Given the description of an element on the screen output the (x, y) to click on. 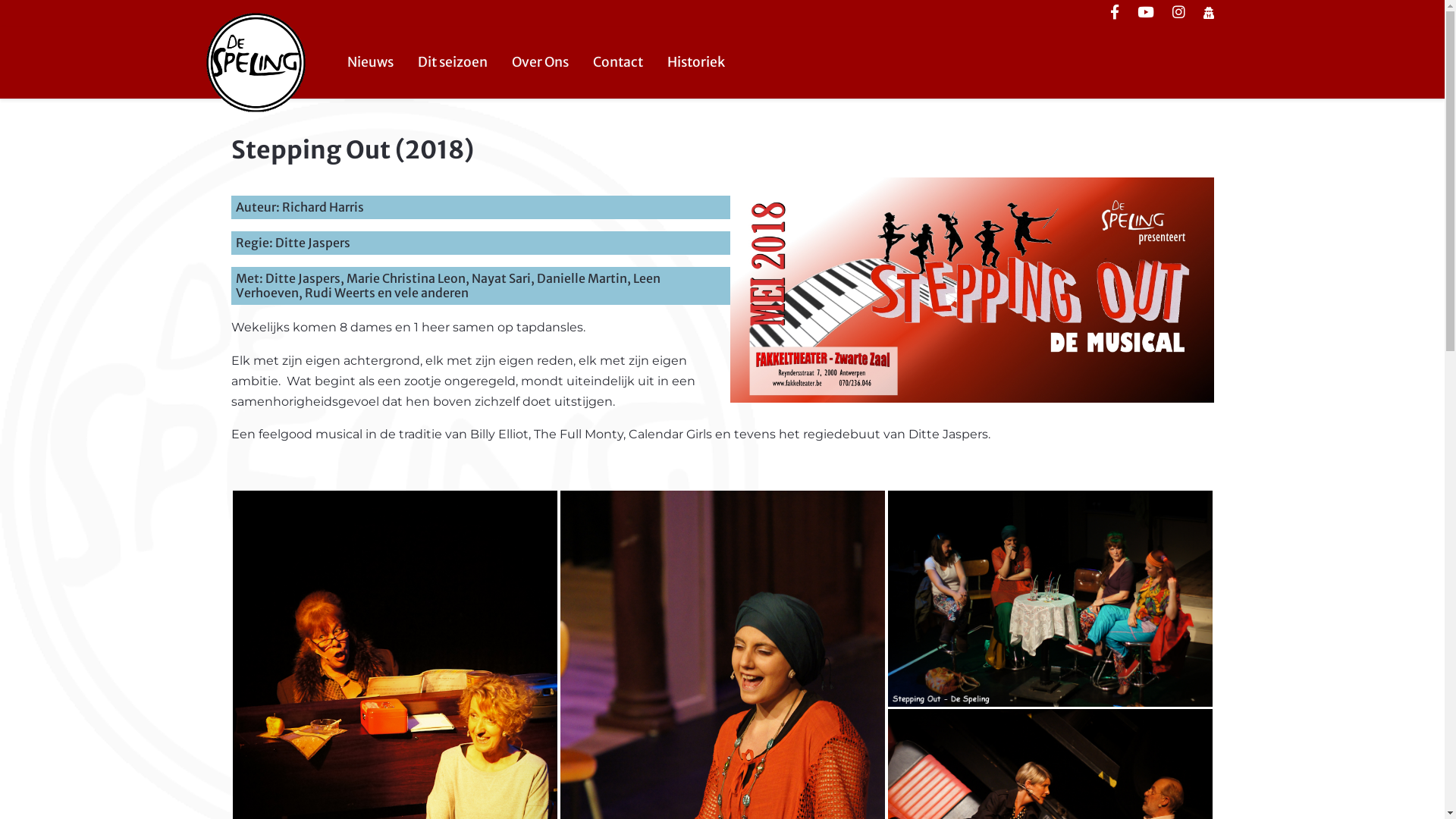
Nieuws Element type: text (370, 62)
Historiek Element type: text (696, 62)
Contact Element type: text (617, 62)
Instagram Element type: hover (1178, 13)
Stepping Out Element type: hover (721, 734)
Stepping Out Element type: hover (394, 734)
Login Element type: hover (1207, 13)
Facebook Element type: hover (1114, 13)
Stepping Out Element type: hover (1049, 597)
Over Ons Element type: text (539, 62)
Dit seizoen Element type: text (451, 62)
YouTube Element type: hover (1145, 13)
